Given the description of an element on the screen output the (x, y) to click on. 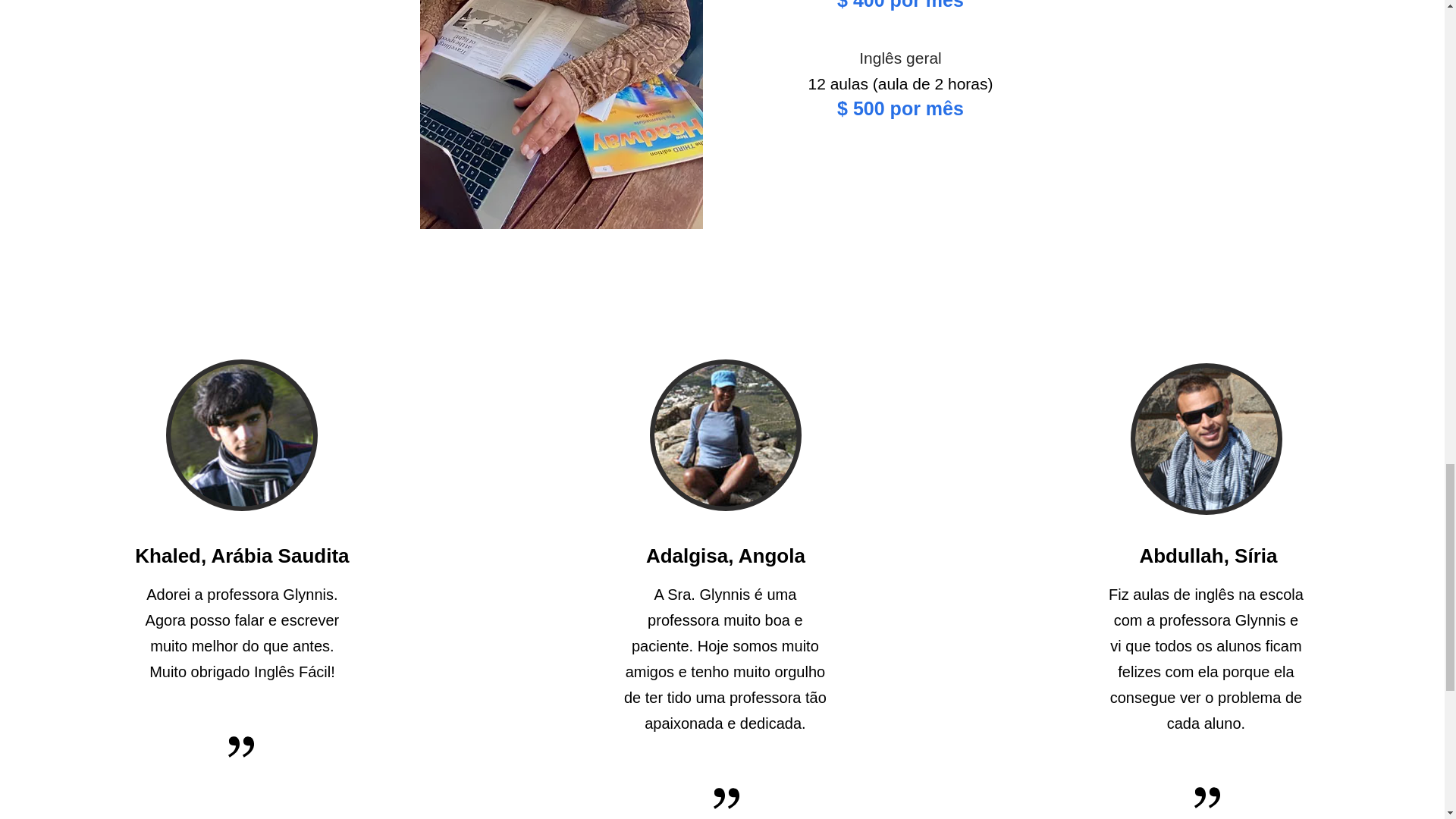
GettyImages-535587703.jpg (241, 435)
GettyImages-145680711.jpg (1206, 439)
GettyImages-124893619.jpg (725, 435)
